Given the description of an element on the screen output the (x, y) to click on. 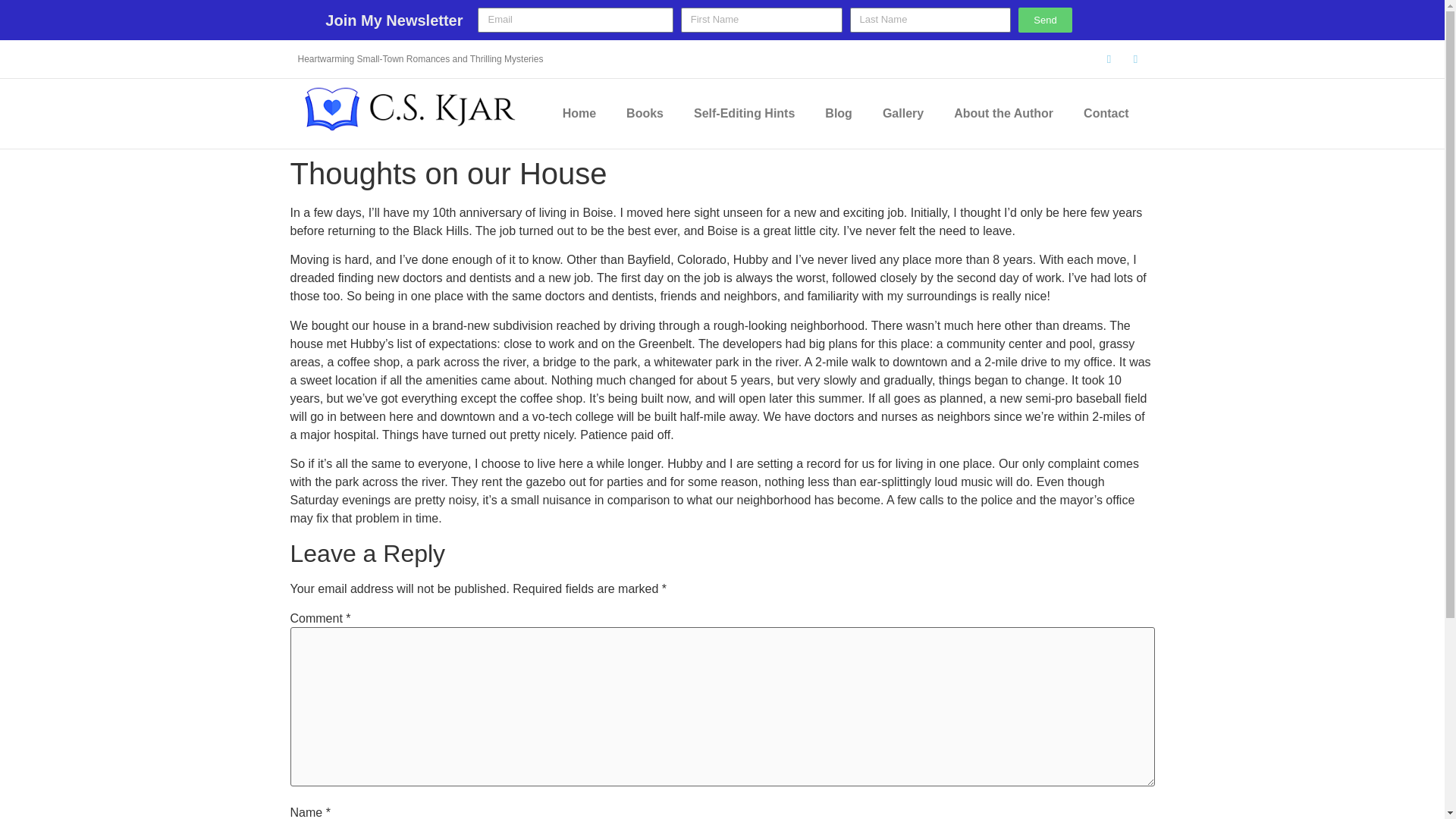
About the Author (1003, 113)
Self-Editing Hints (743, 113)
Send (1044, 19)
Contact (1106, 113)
Blog (838, 113)
Home (579, 113)
Books (644, 113)
Gallery (903, 113)
